Given the description of an element on the screen output the (x, y) to click on. 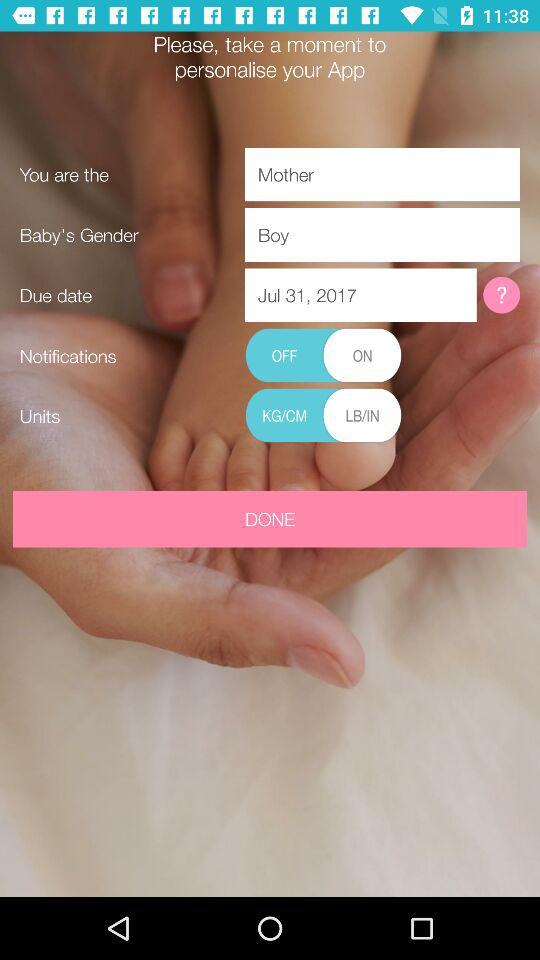
toggle notifications (323, 355)
